Given the description of an element on the screen output the (x, y) to click on. 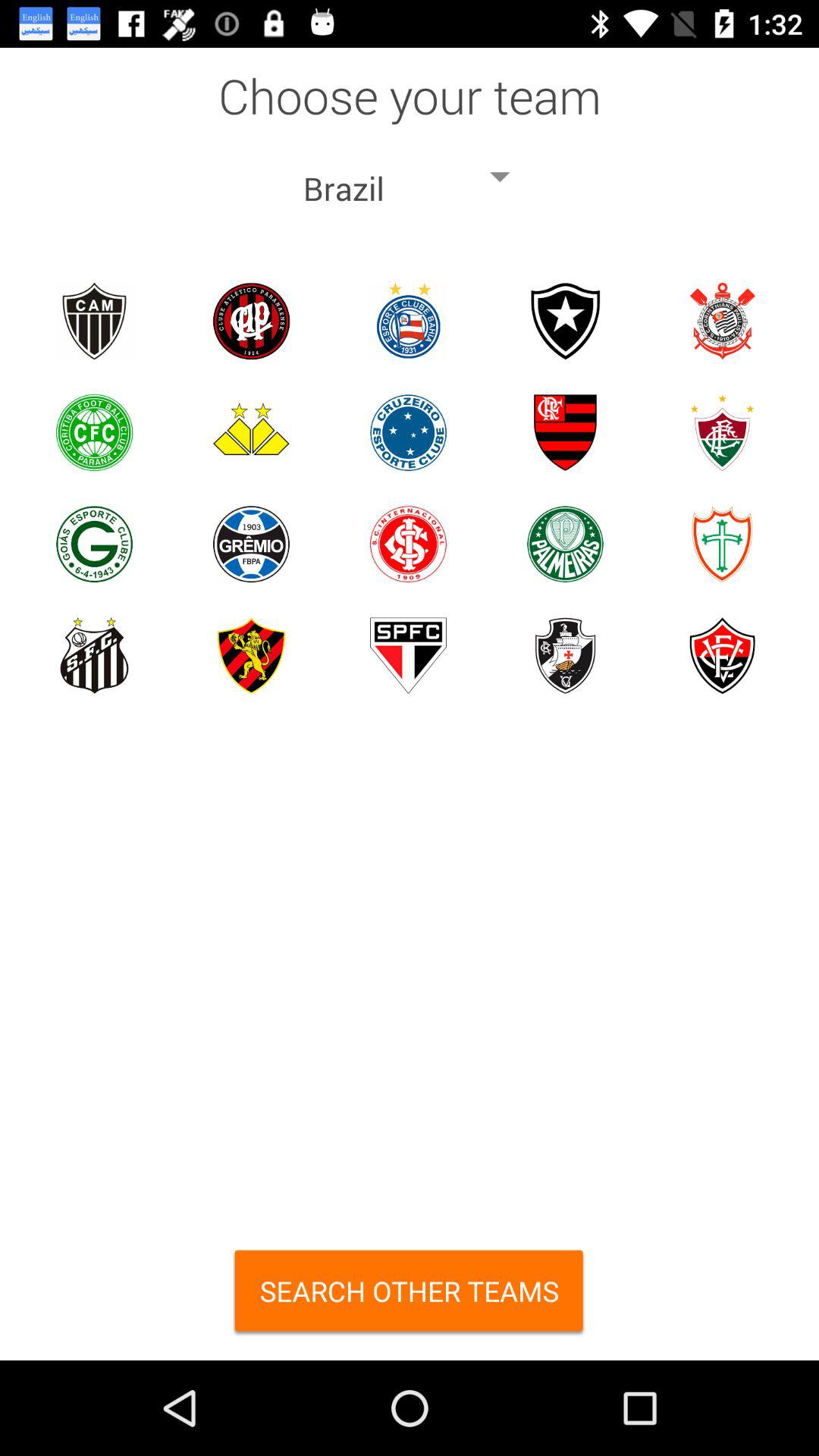
select team (251, 321)
